Given the description of an element on the screen output the (x, y) to click on. 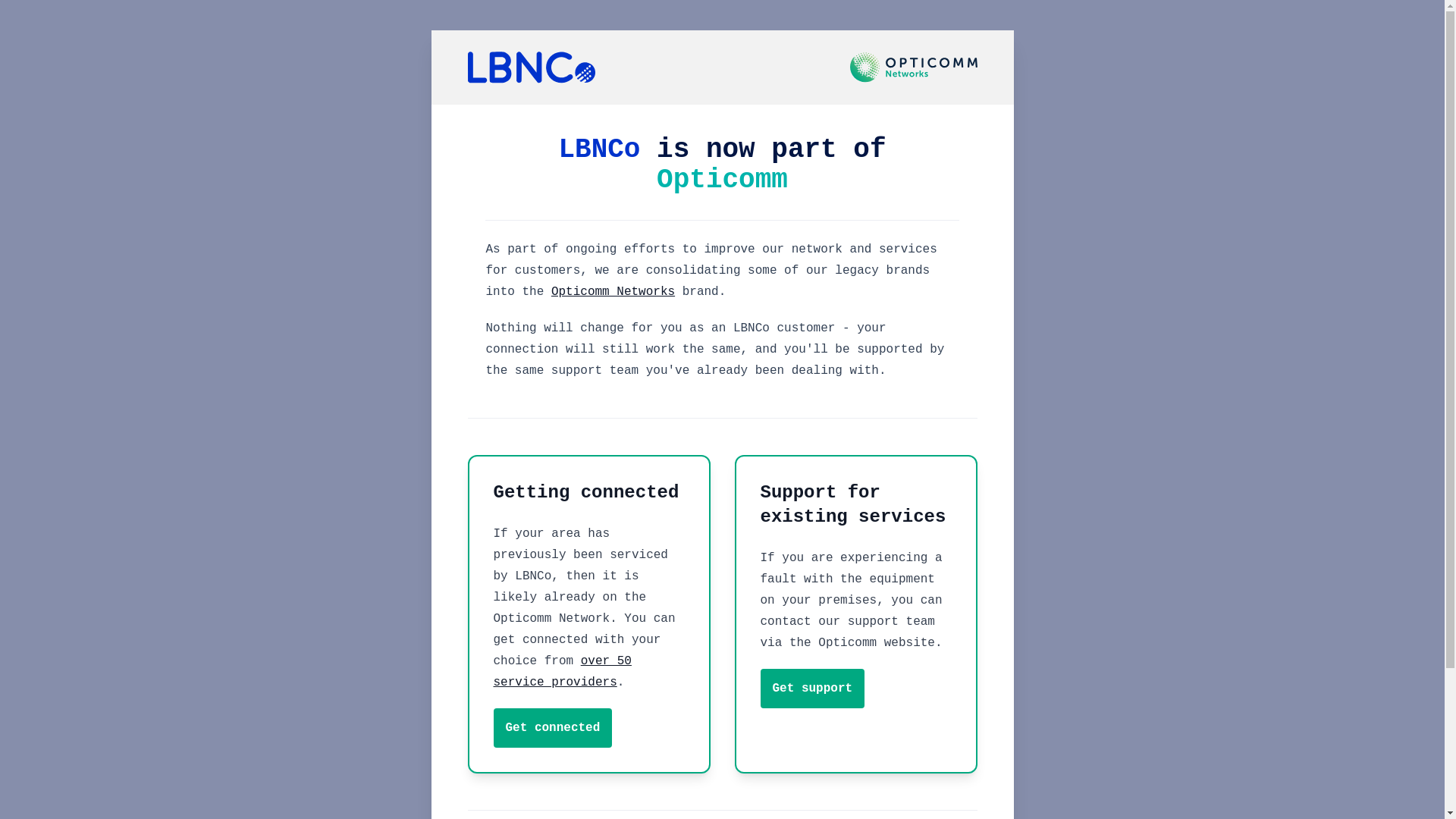
over 50 service providers Element type: text (561, 671)
Get support Element type: text (811, 688)
Get connected Element type: text (551, 727)
Opticomm Networks Element type: text (612, 291)
